Given the description of an element on the screen output the (x, y) to click on. 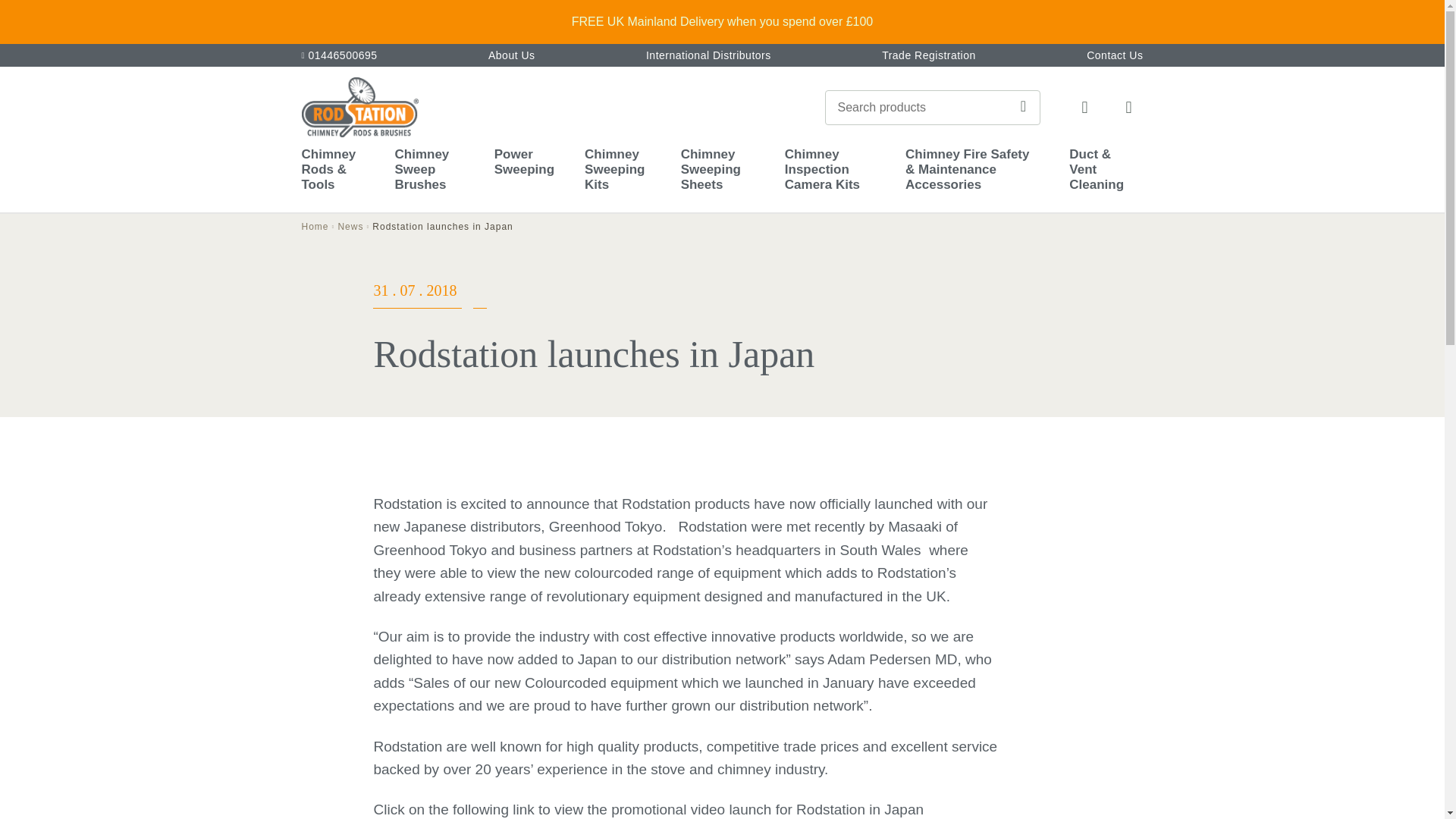
About Us (511, 55)
01446500695 (339, 55)
Power Sweeping (524, 169)
International Distributors (708, 55)
Trade Registration (928, 55)
Chimney Sweep Brushes (428, 169)
Go (1024, 107)
Contact Us (1114, 55)
